Given the description of an element on the screen output the (x, y) to click on. 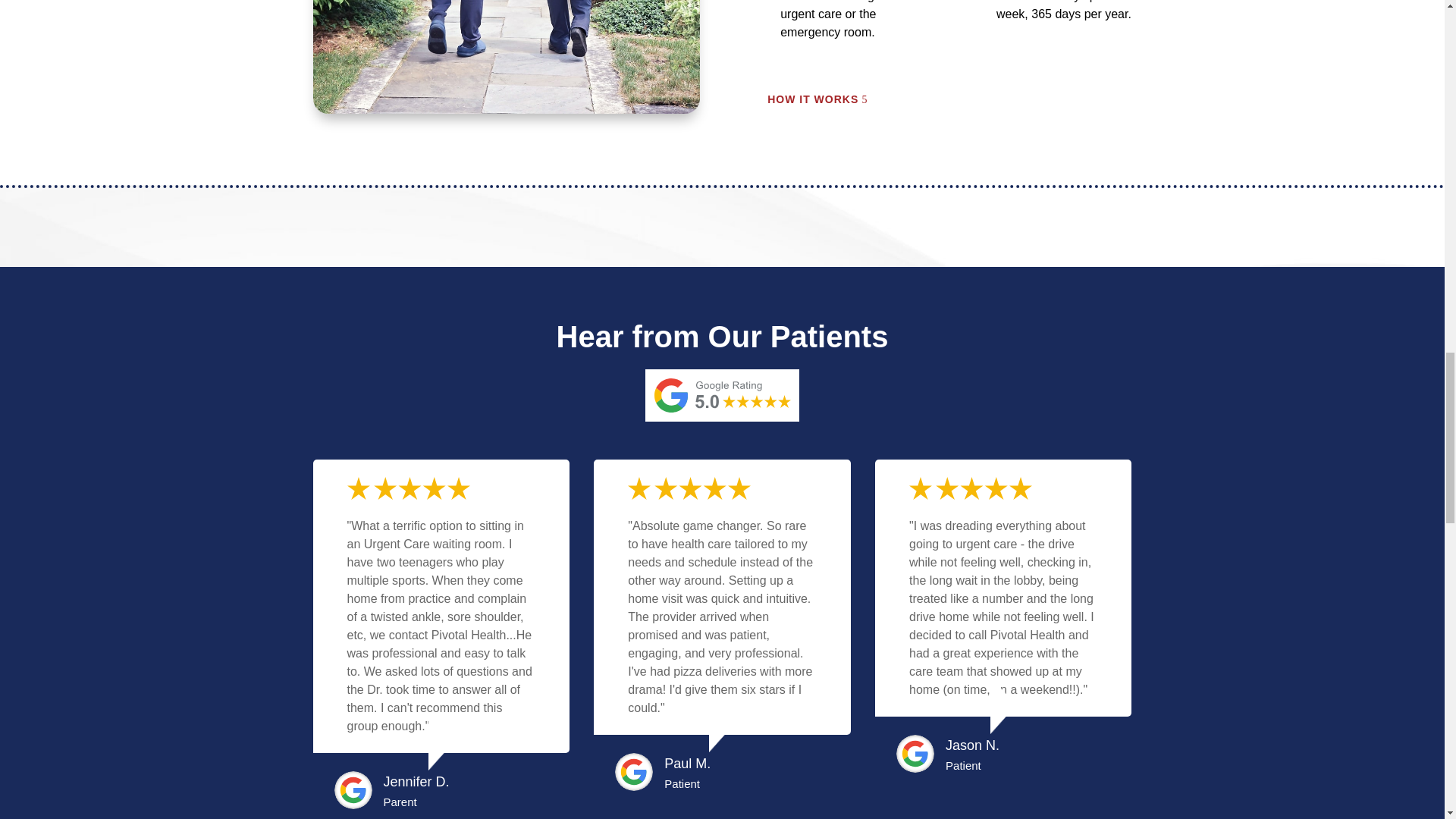
urgent-care-services-min (505, 56)
urgent-care-reviews-badge (722, 395)
